Given the description of an element on the screen output the (x, y) to click on. 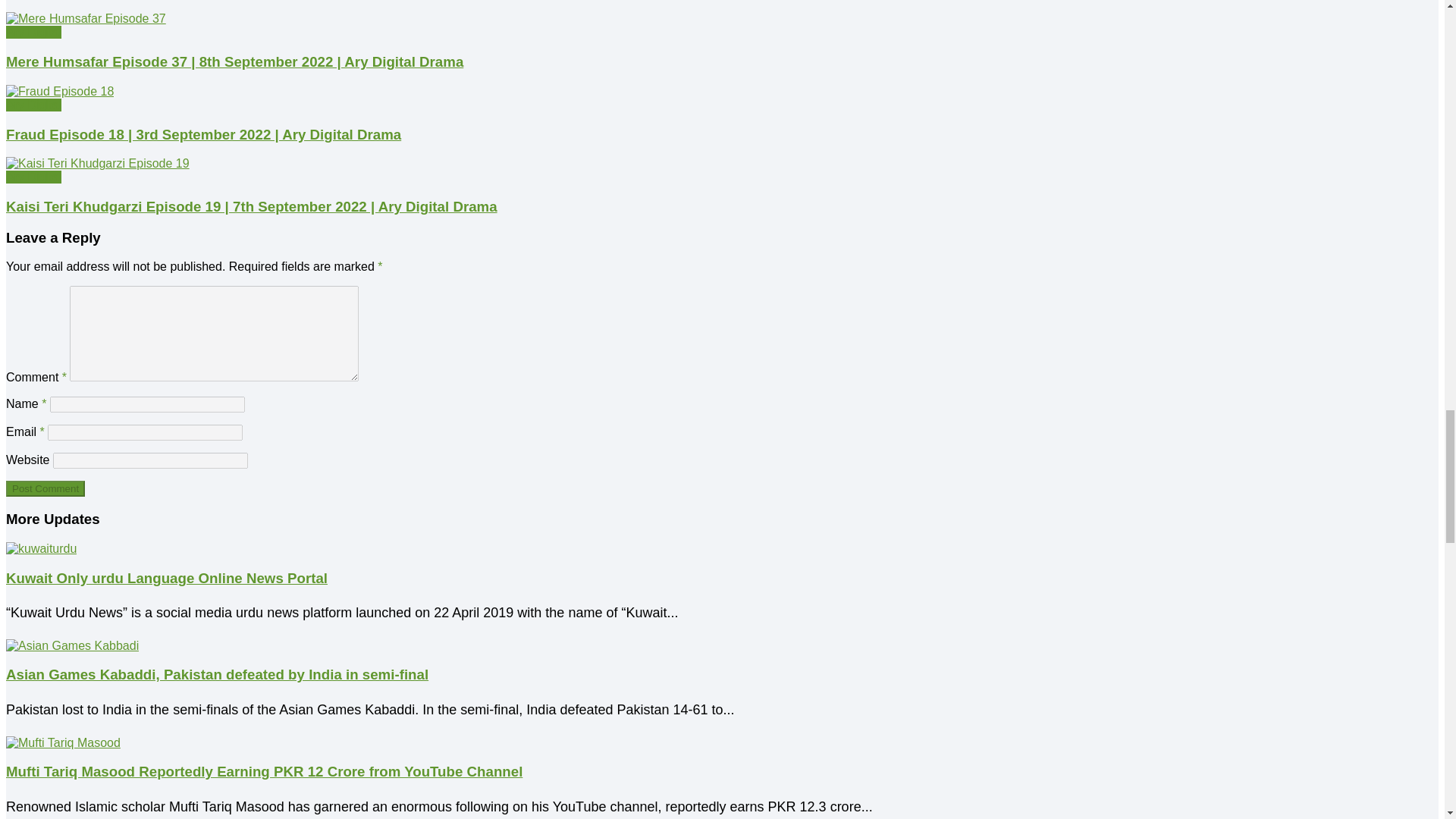
Kuwait Only urdu Language Online News Portal (41, 549)
Post Comment (44, 488)
